Given the description of an element on the screen output the (x, y) to click on. 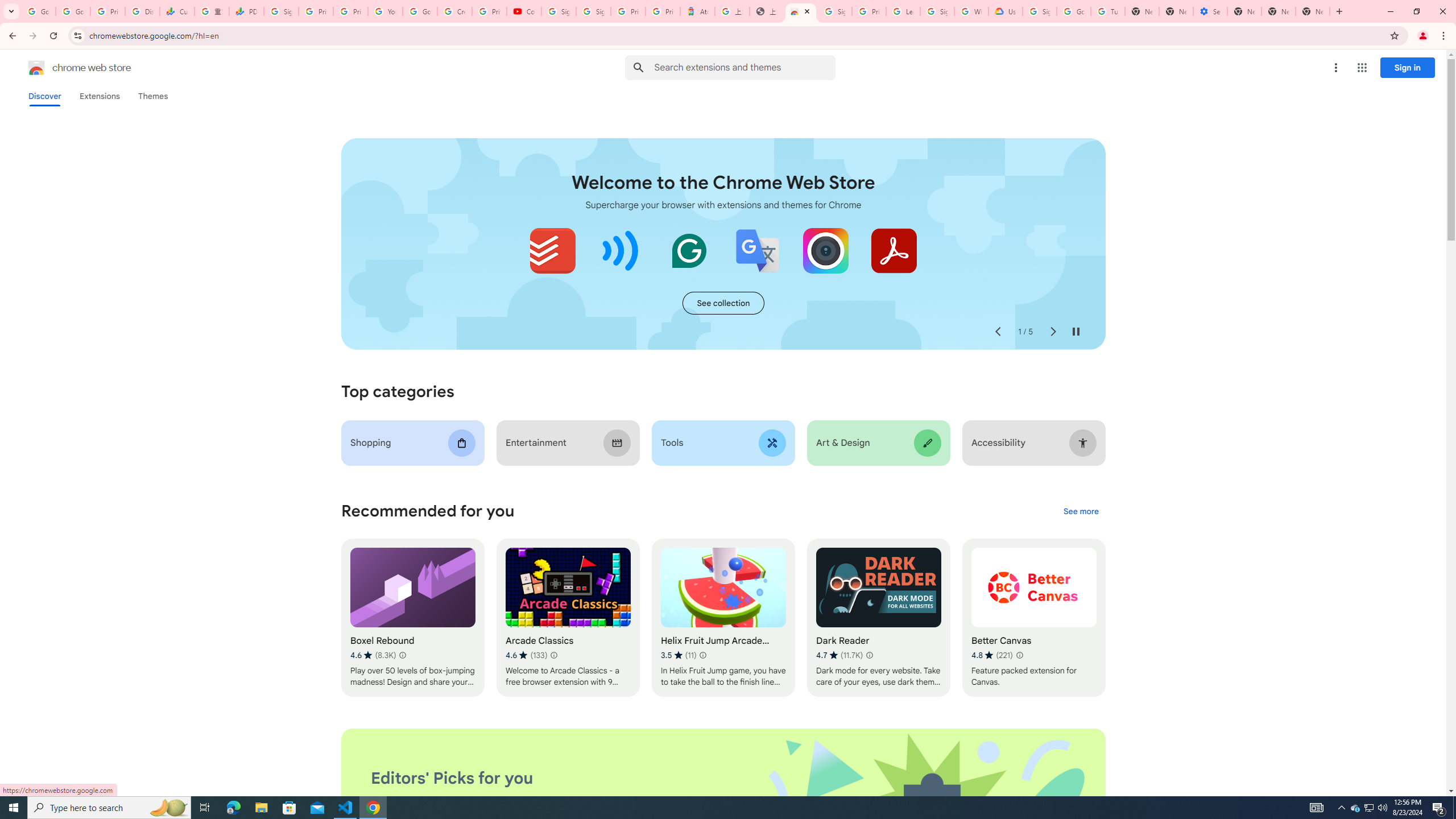
Content Creator Programs & Opportunities - YouTube Creators (524, 11)
Pause auto-play (1075, 331)
Google Account Help (1073, 11)
Chrome Web Store logo chrome web store (67, 67)
Learn more about results and reviews "Dark Reader" (869, 655)
See more personalized recommendations (1080, 511)
Sign in - Google Accounts (592, 11)
Accessibility (1033, 443)
Sign in - Google Accounts (937, 11)
